Given the description of an element on the screen output the (x, y) to click on. 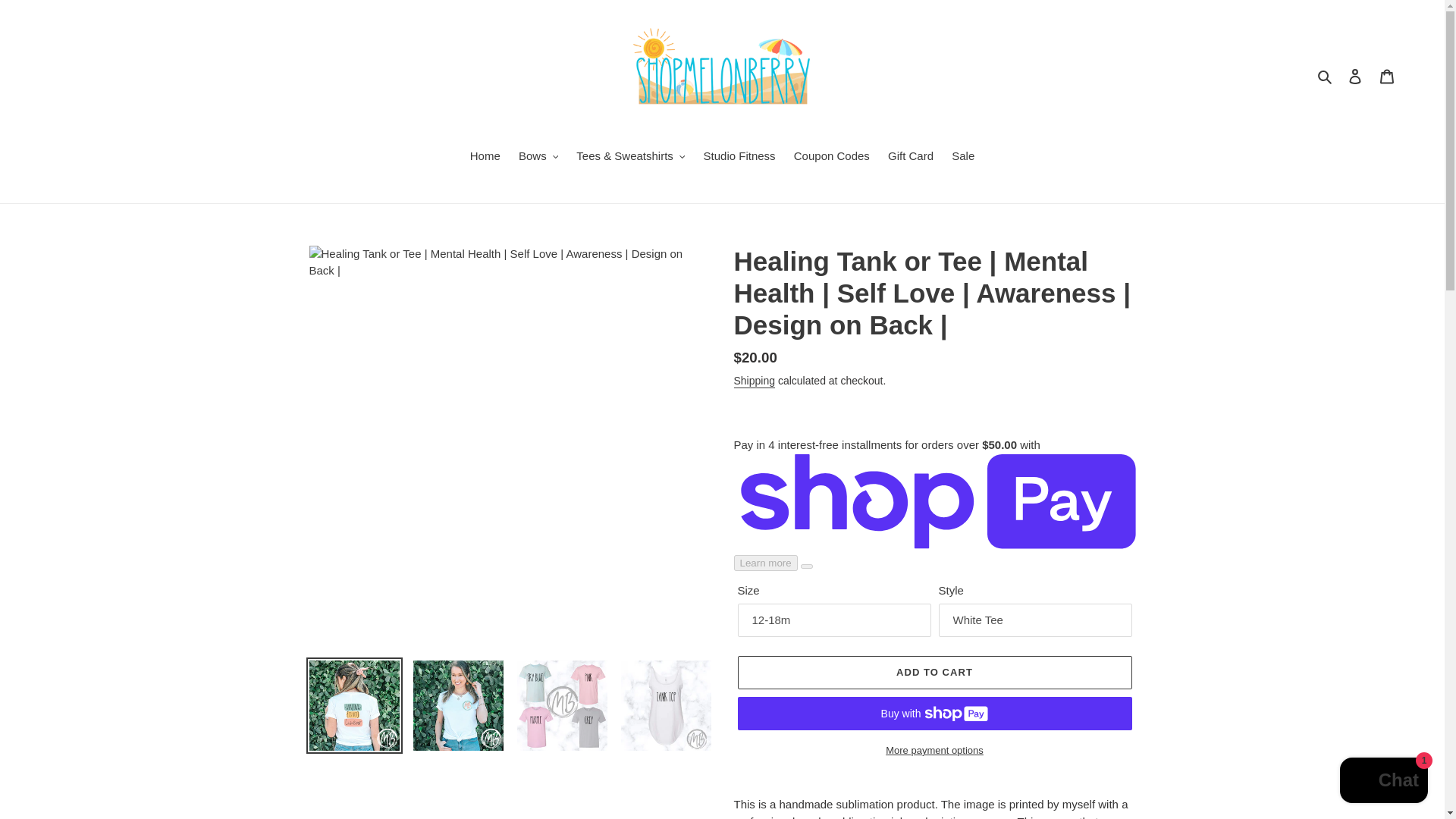
Search (1326, 75)
Log in (1355, 75)
Cart (1387, 75)
Shopify online store chat (1383, 781)
